Given the description of an element on the screen output the (x, y) to click on. 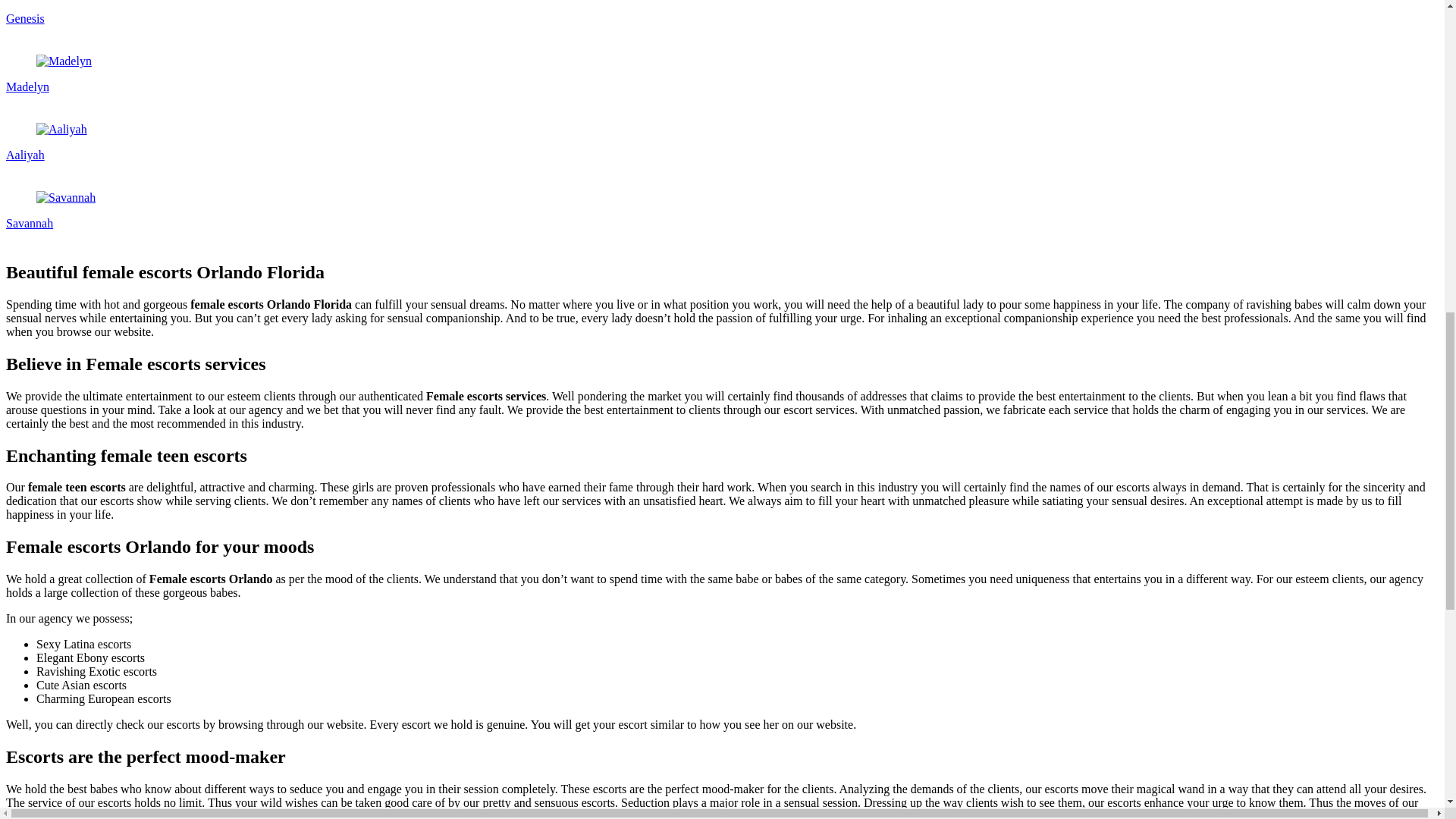
Savannah (66, 197)
Madelyn (63, 60)
Aaliyah (61, 129)
